Given the description of an element on the screen output the (x, y) to click on. 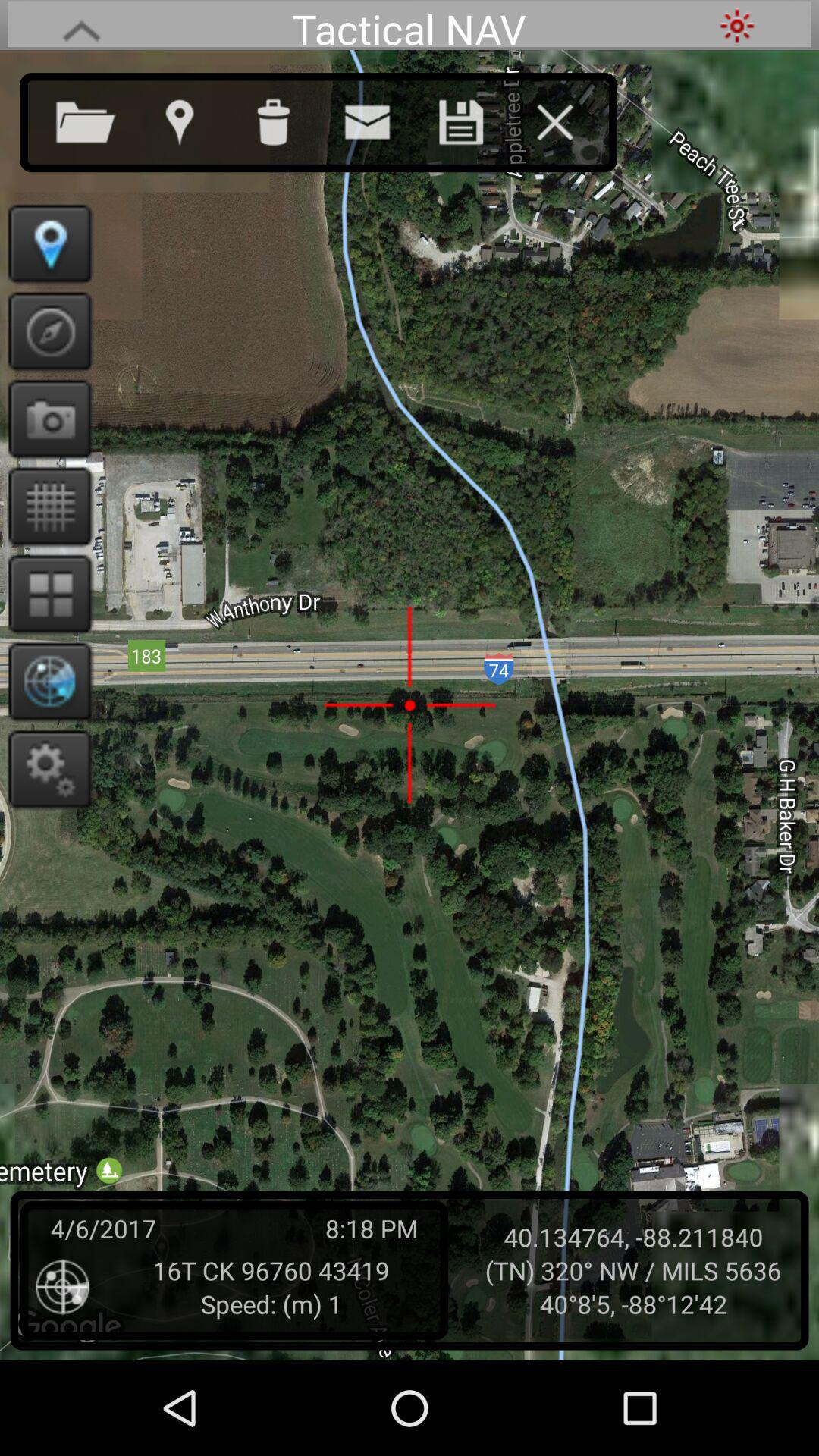
click camera option (45, 418)
